Given the description of an element on the screen output the (x, y) to click on. 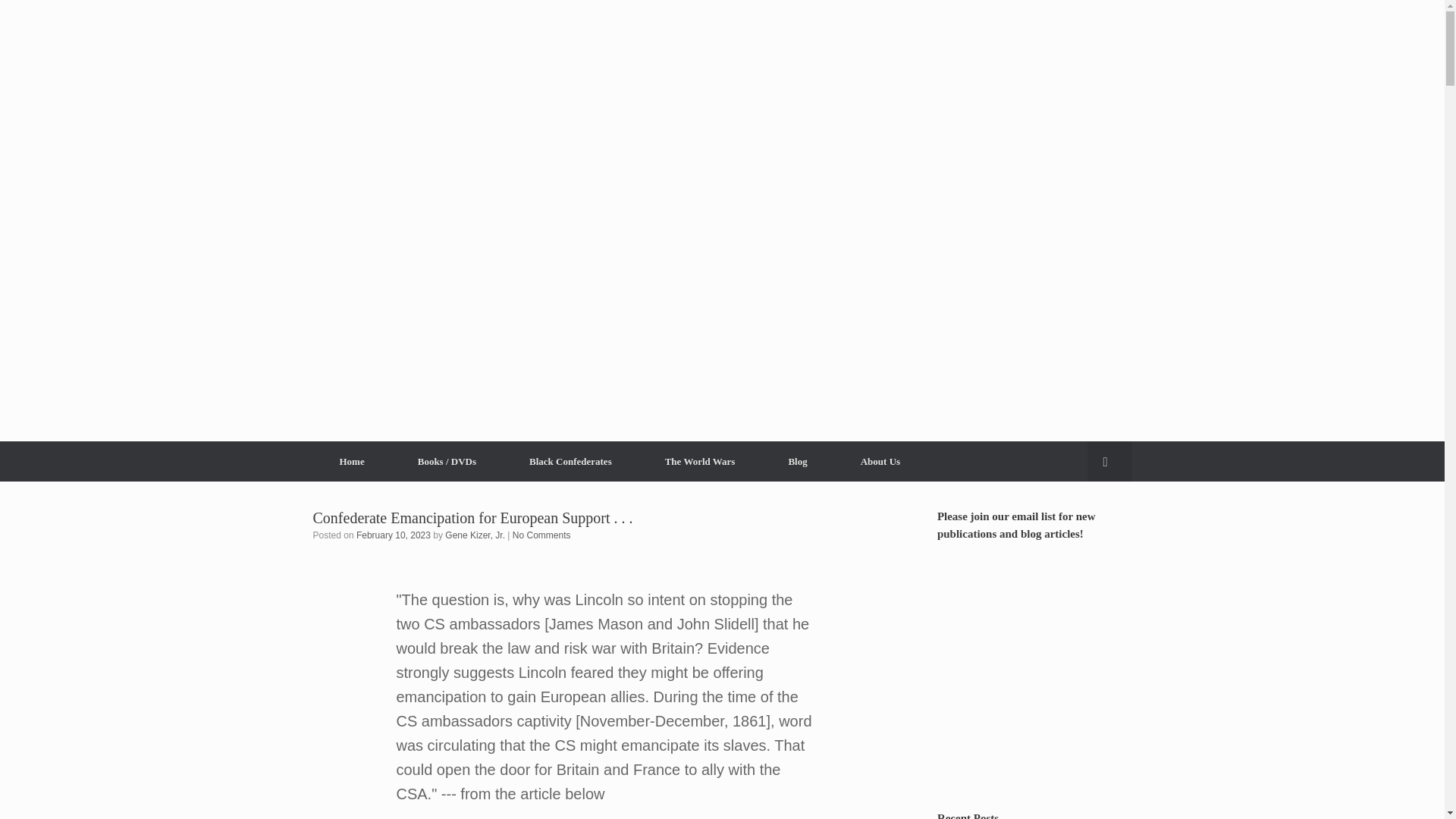
The World Wars (700, 461)
About Us (880, 461)
No Comments (541, 534)
Gene Kizer, Jr. (475, 534)
Blog (796, 461)
February 10, 2023 (393, 534)
View all posts by Gene Kizer, Jr. (475, 534)
5:49 pm (393, 534)
Home (351, 461)
Black Confederates (570, 461)
